Given the description of an element on the screen output the (x, y) to click on. 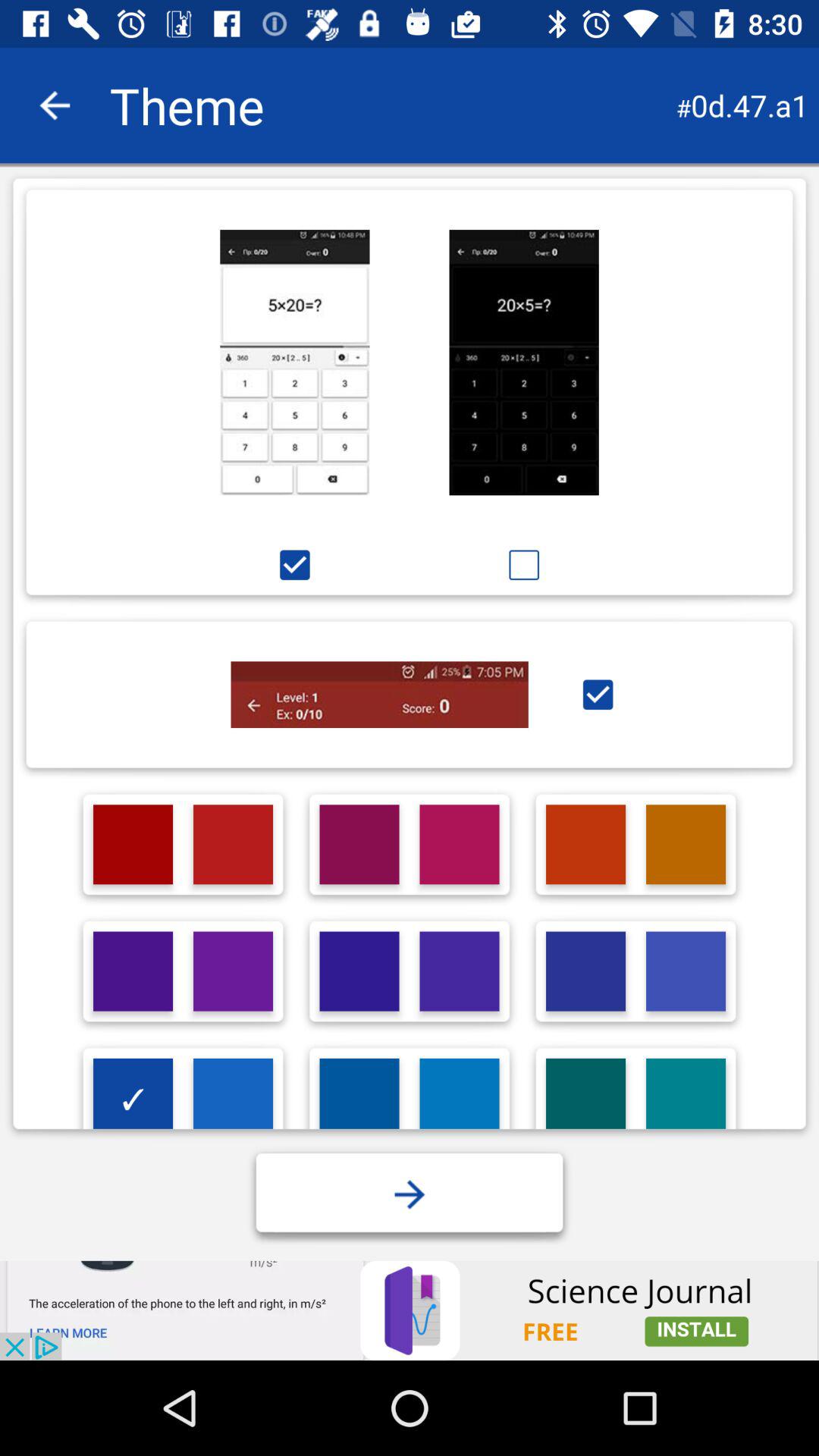
choose color (132, 971)
